Given the description of an element on the screen output the (x, y) to click on. 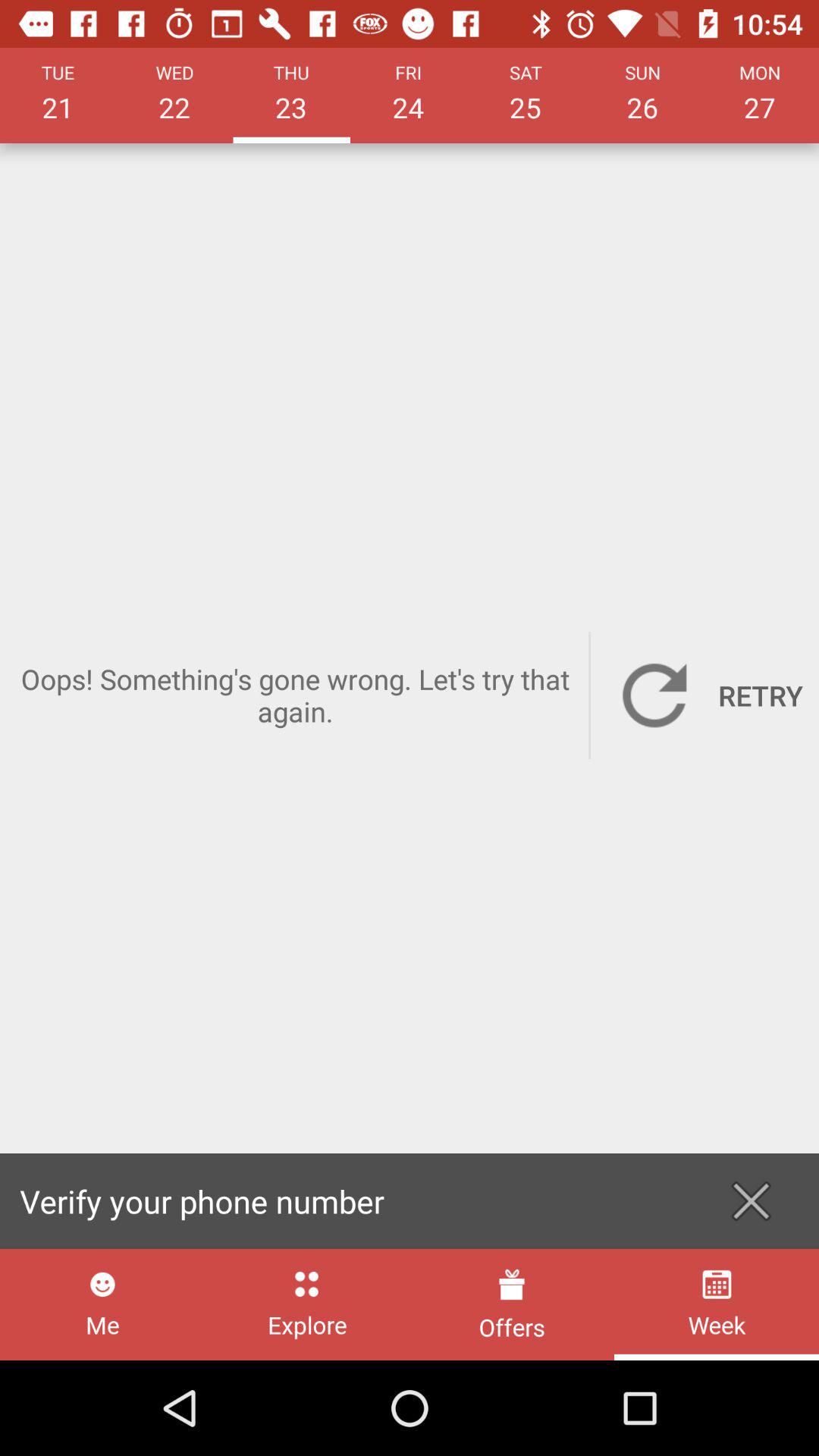
click the item to the right of me icon (306, 1304)
